Given the description of an element on the screen output the (x, y) to click on. 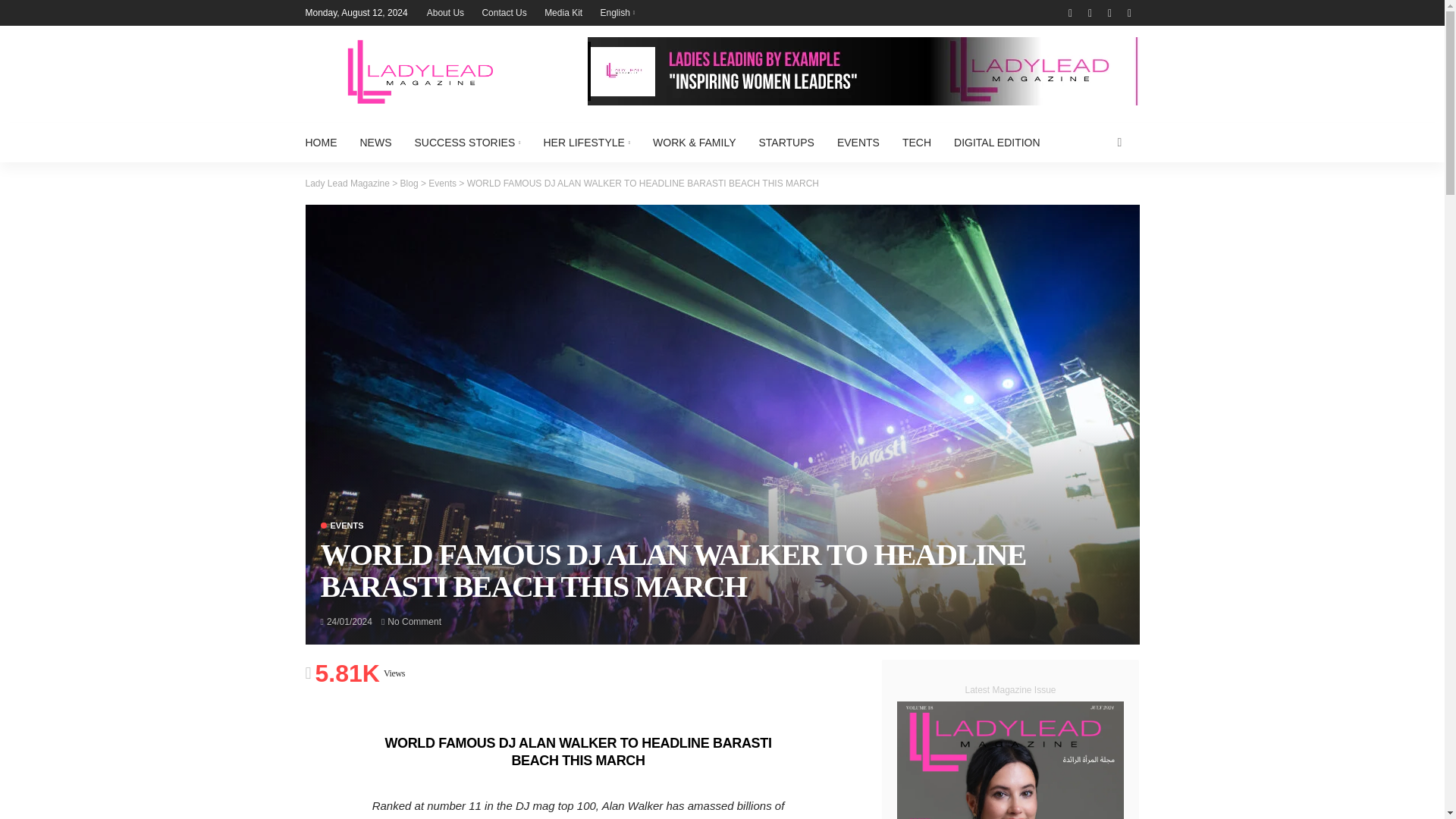
English (617, 12)
HOME (325, 142)
About Us (445, 12)
Media Kit (563, 12)
Contact Us (504, 12)
